Given the description of an element on the screen output the (x, y) to click on. 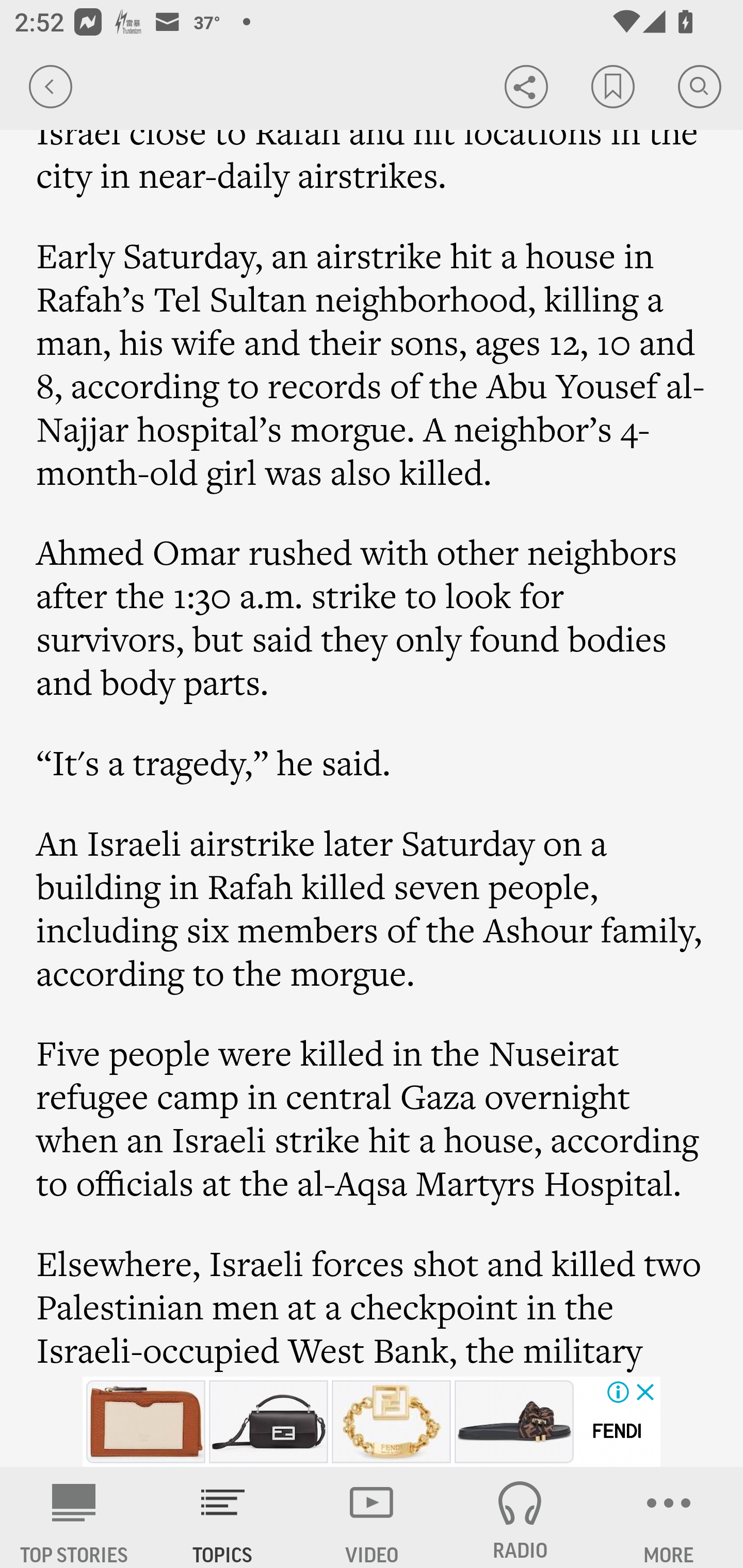
fendi-feel-brown-satin-slides-8x8142ae7sf0r7v (513, 1420)
AP News TOP STORIES (74, 1517)
TOPICS (222, 1517)
VIDEO (371, 1517)
RADIO (519, 1517)
MORE (668, 1517)
